Given the description of an element on the screen output the (x, y) to click on. 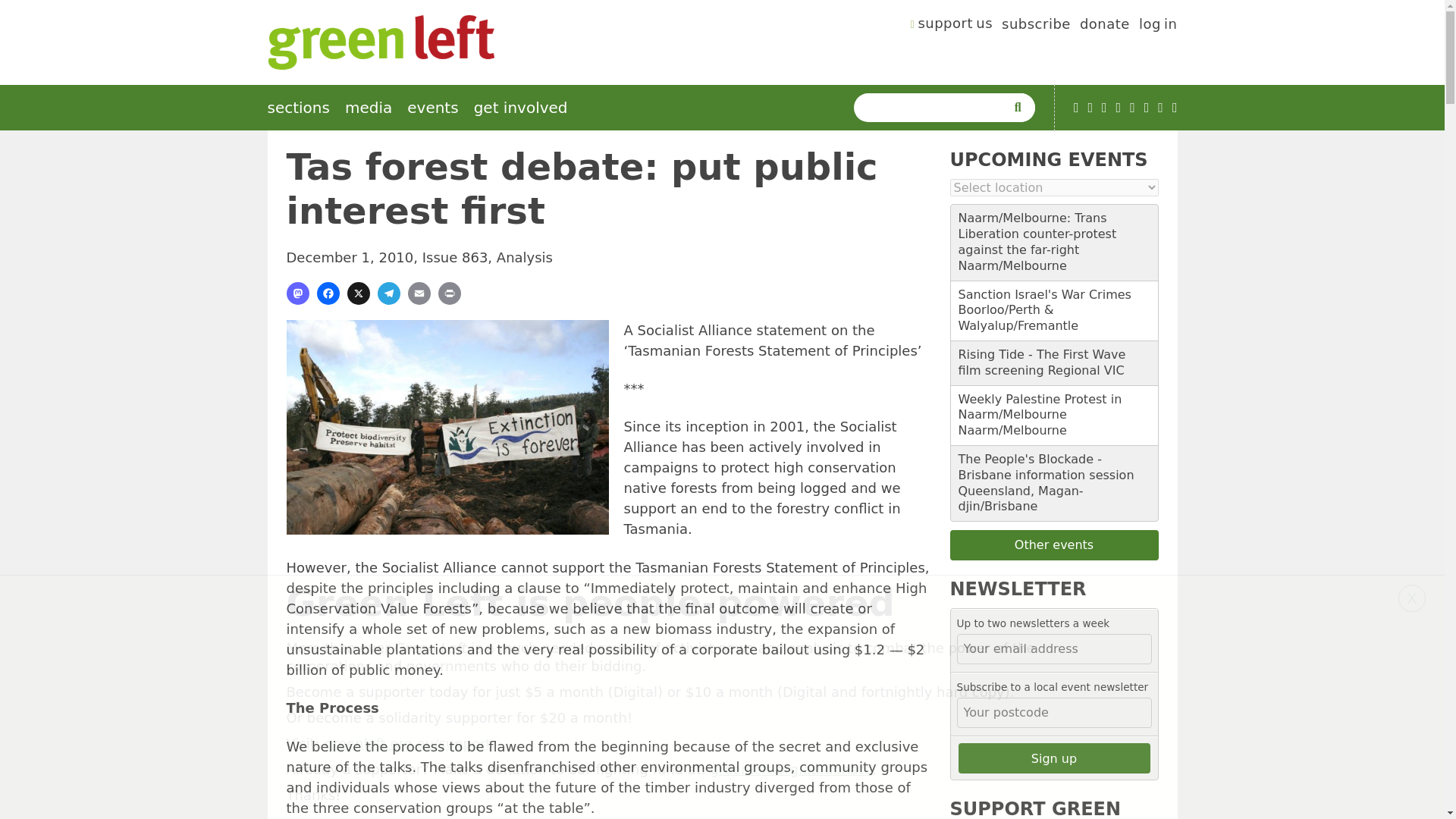
support us (951, 26)
Sign up (1054, 757)
Share on Facebook (328, 292)
Print (449, 292)
log in (1157, 26)
share via email (418, 292)
subscribe (1035, 26)
donate (1104, 26)
Enter the terms you wish to search for. (932, 107)
Share on Telegram (388, 292)
